Given the description of an element on the screen output the (x, y) to click on. 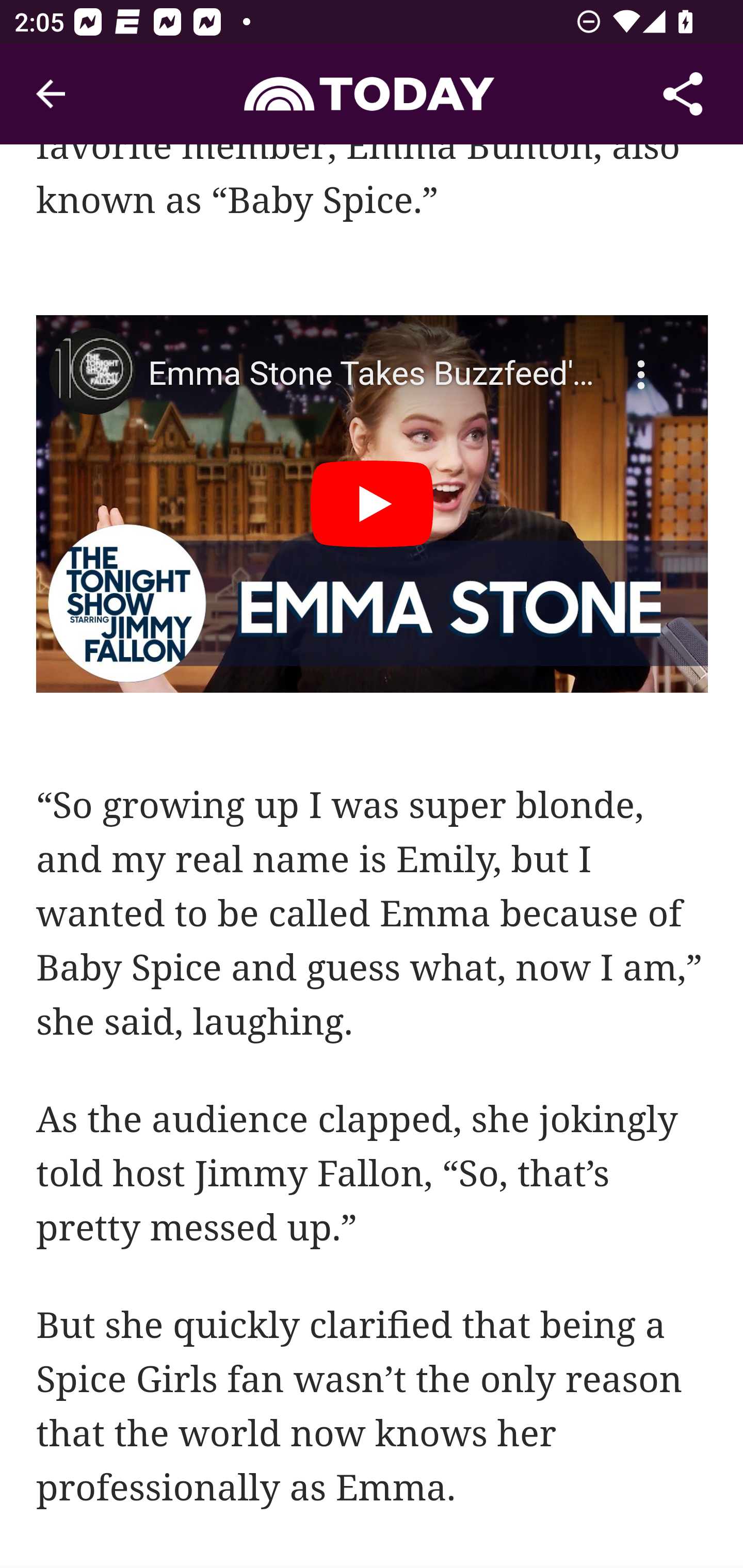
Navigate up (50, 93)
Share Article, button (683, 94)
Header, Today (371, 93)
More (643, 361)
Play (372, 503)
